Given the description of an element on the screen output the (x, y) to click on. 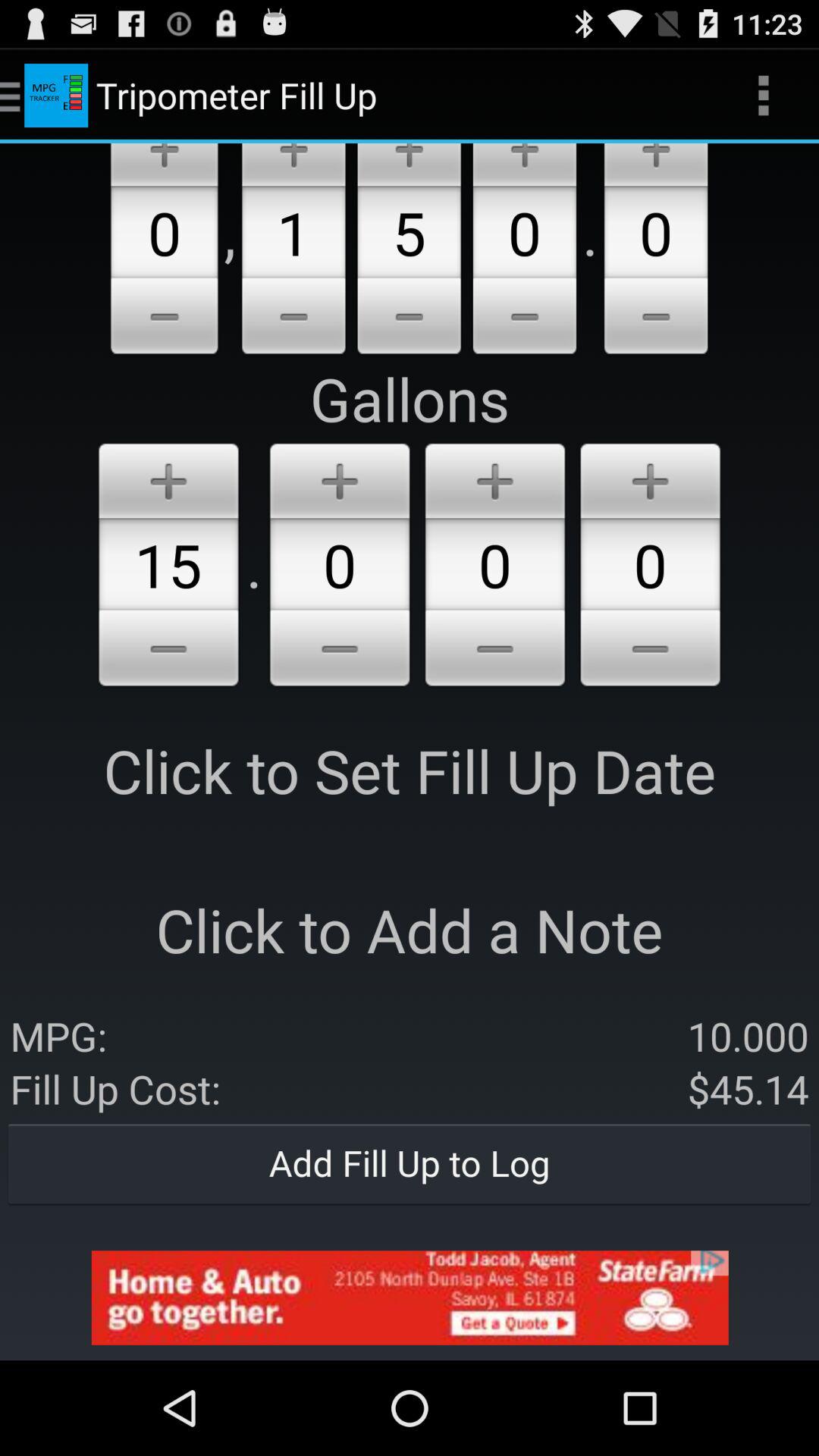
subtract 1 from number above (293, 318)
